Given the description of an element on the screen output the (x, y) to click on. 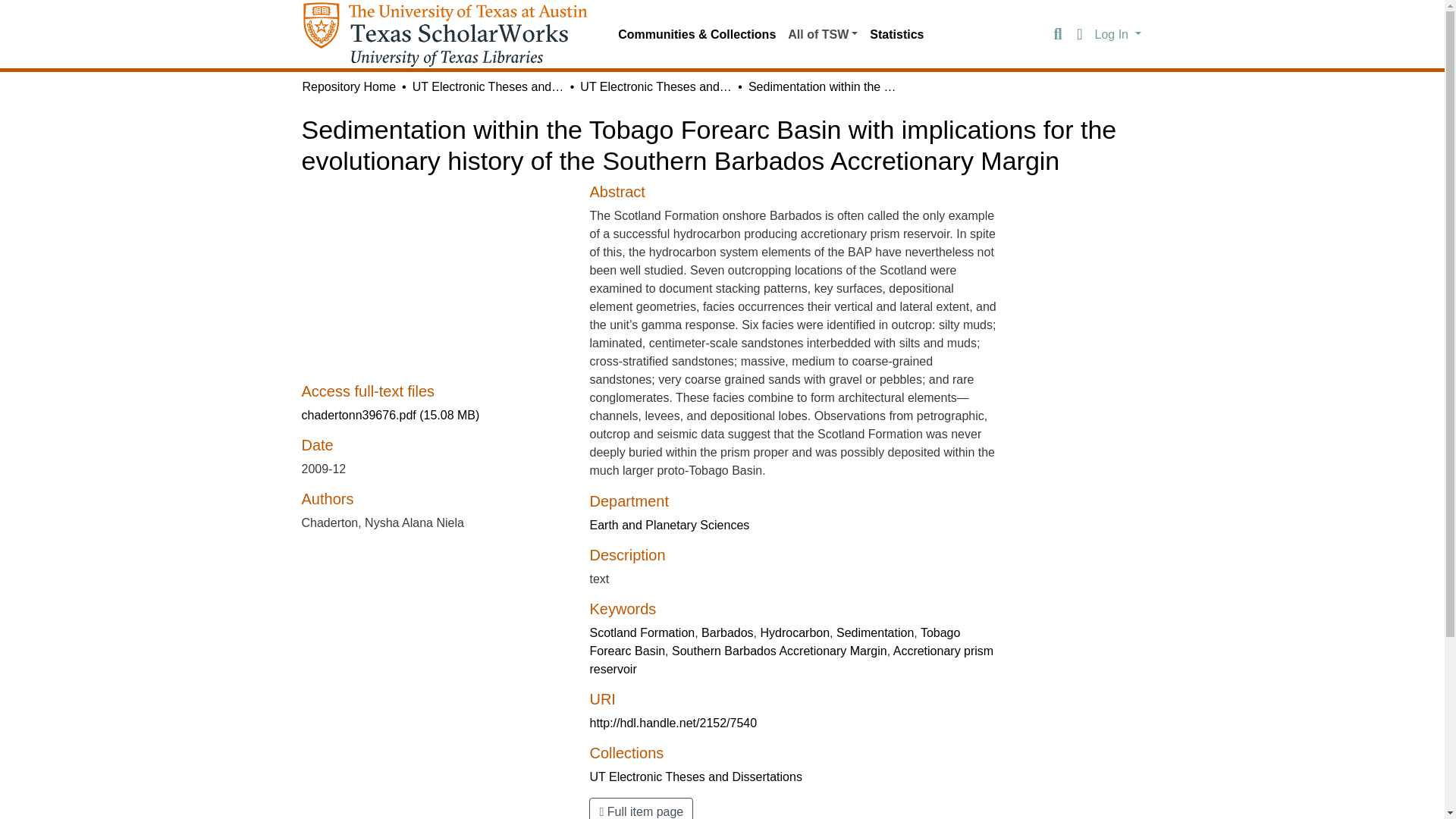
Statistics (896, 34)
UT Electronic Theses and Dissertations (488, 86)
Barbados (727, 632)
UT Electronic Theses and Dissertations (655, 86)
Earth and Planetary Sciences (669, 524)
Search (1057, 34)
Full item page (641, 808)
Repository Home (348, 86)
Sedimentation (874, 632)
Log In (1117, 33)
